Given the description of an element on the screen output the (x, y) to click on. 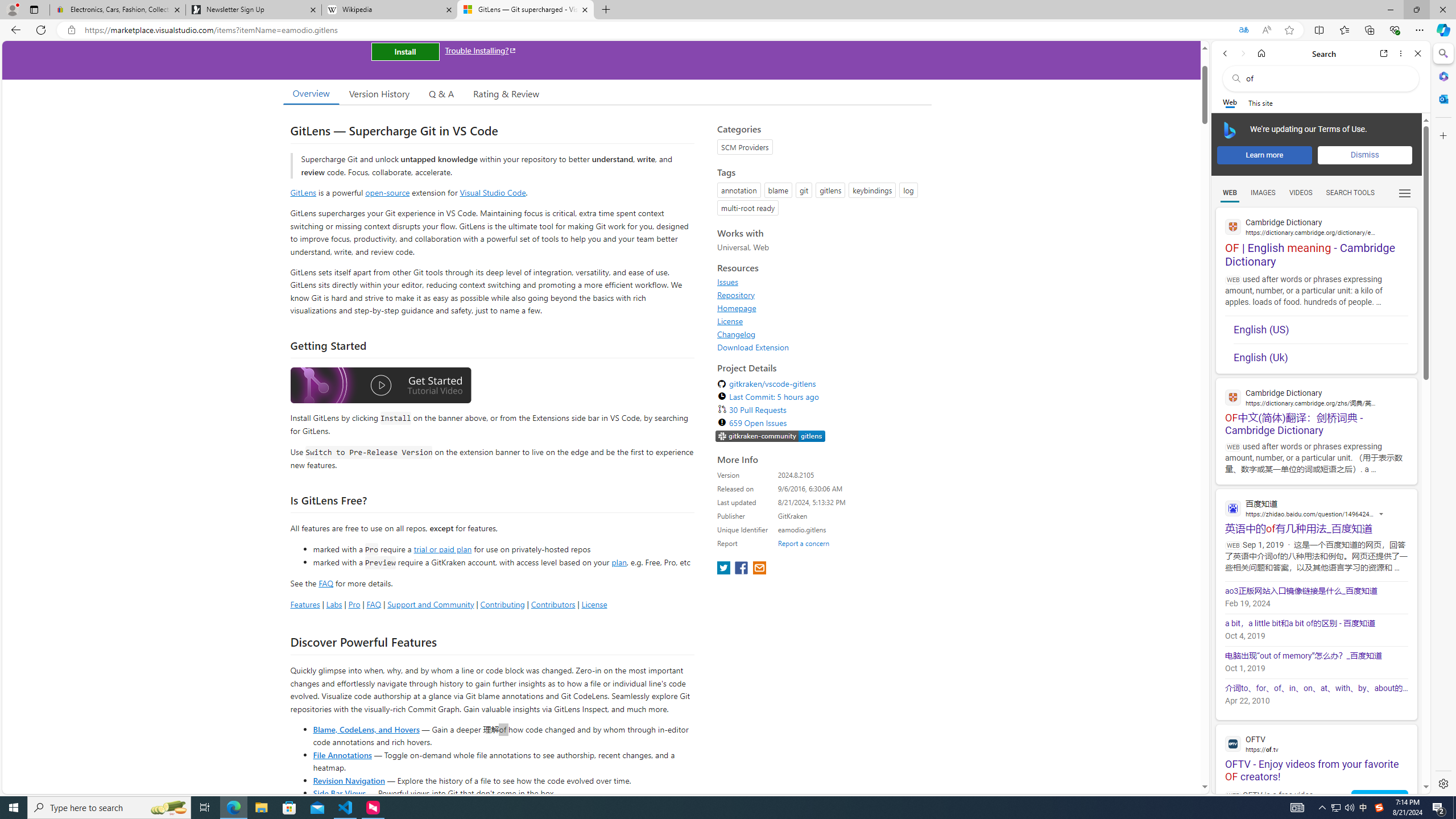
English (Uk) (1320, 357)
Homepage (737, 307)
Homepage (820, 307)
Newsletter Sign Up (253, 9)
VIDEOS (1300, 192)
Side Bar Views (339, 792)
Support and Community (430, 603)
Watch the GitLens Getting Started video (380, 387)
